Given the description of an element on the screen output the (x, y) to click on. 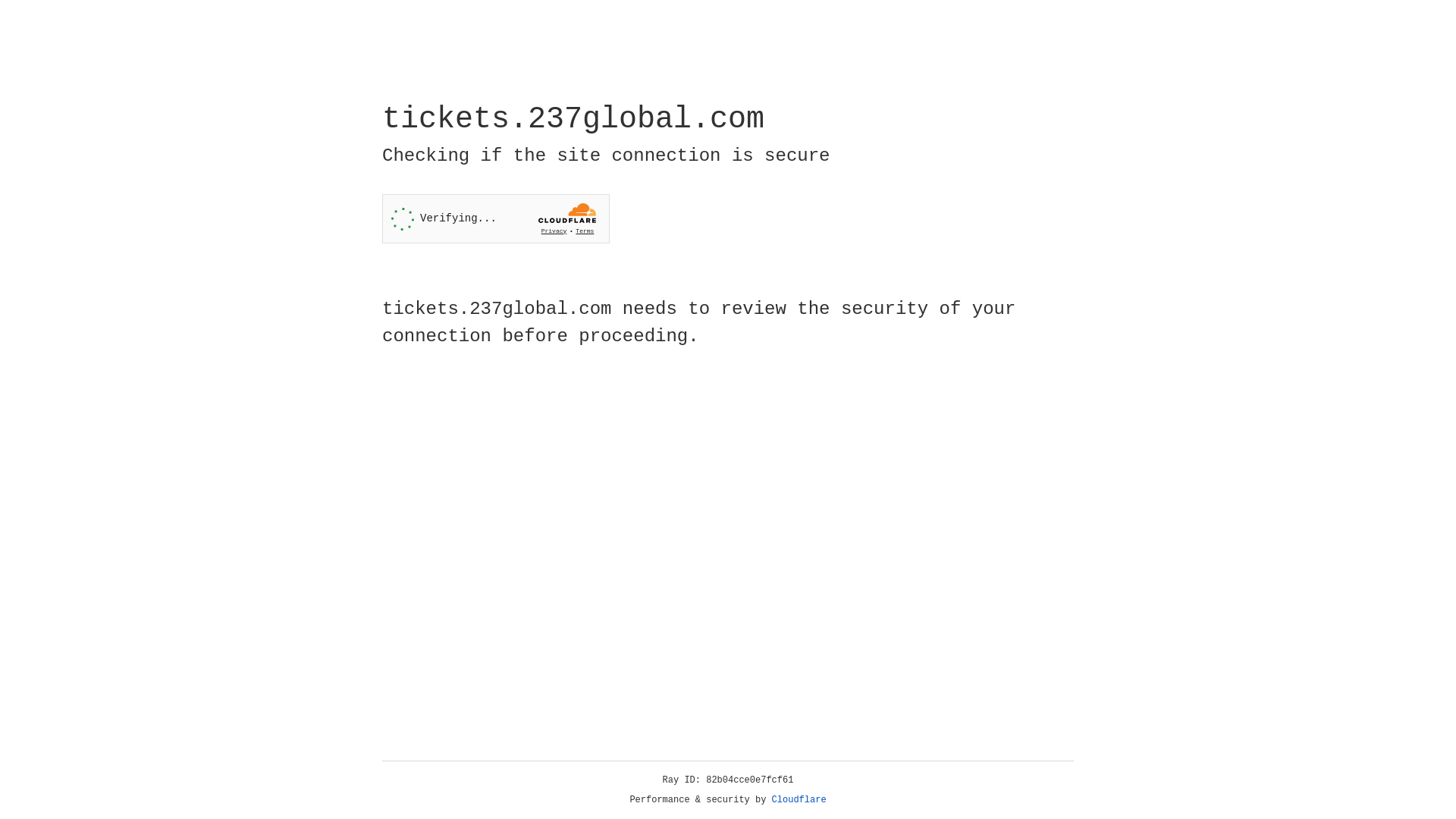
Widget containing a Cloudflare security challenge Element type: hover (495, 218)
Cloudflare Element type: text (798, 799)
